Given the description of an element on the screen output the (x, y) to click on. 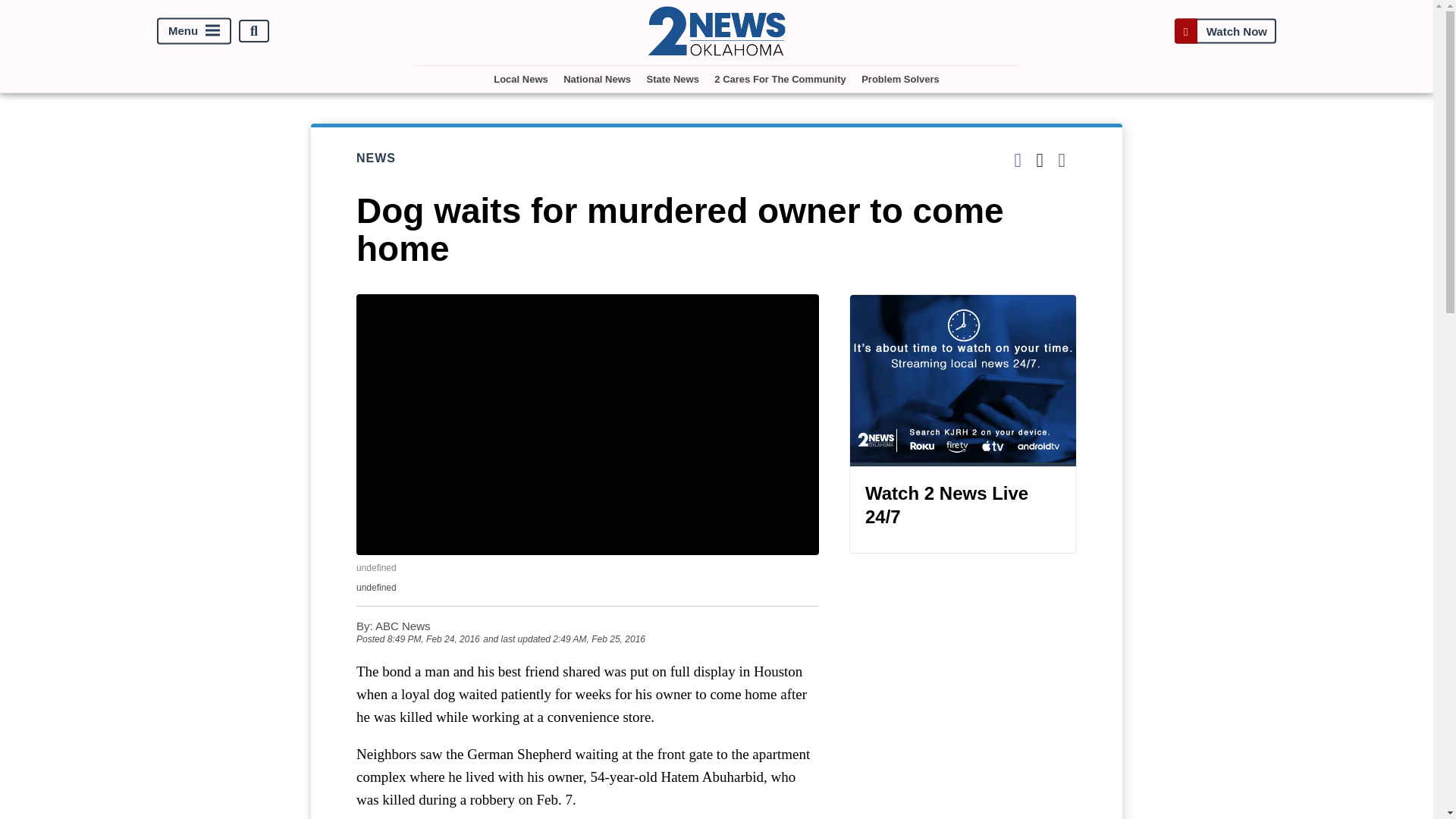
Watch Now (1224, 31)
Menu (194, 31)
